Given the description of an element on the screen output the (x, y) to click on. 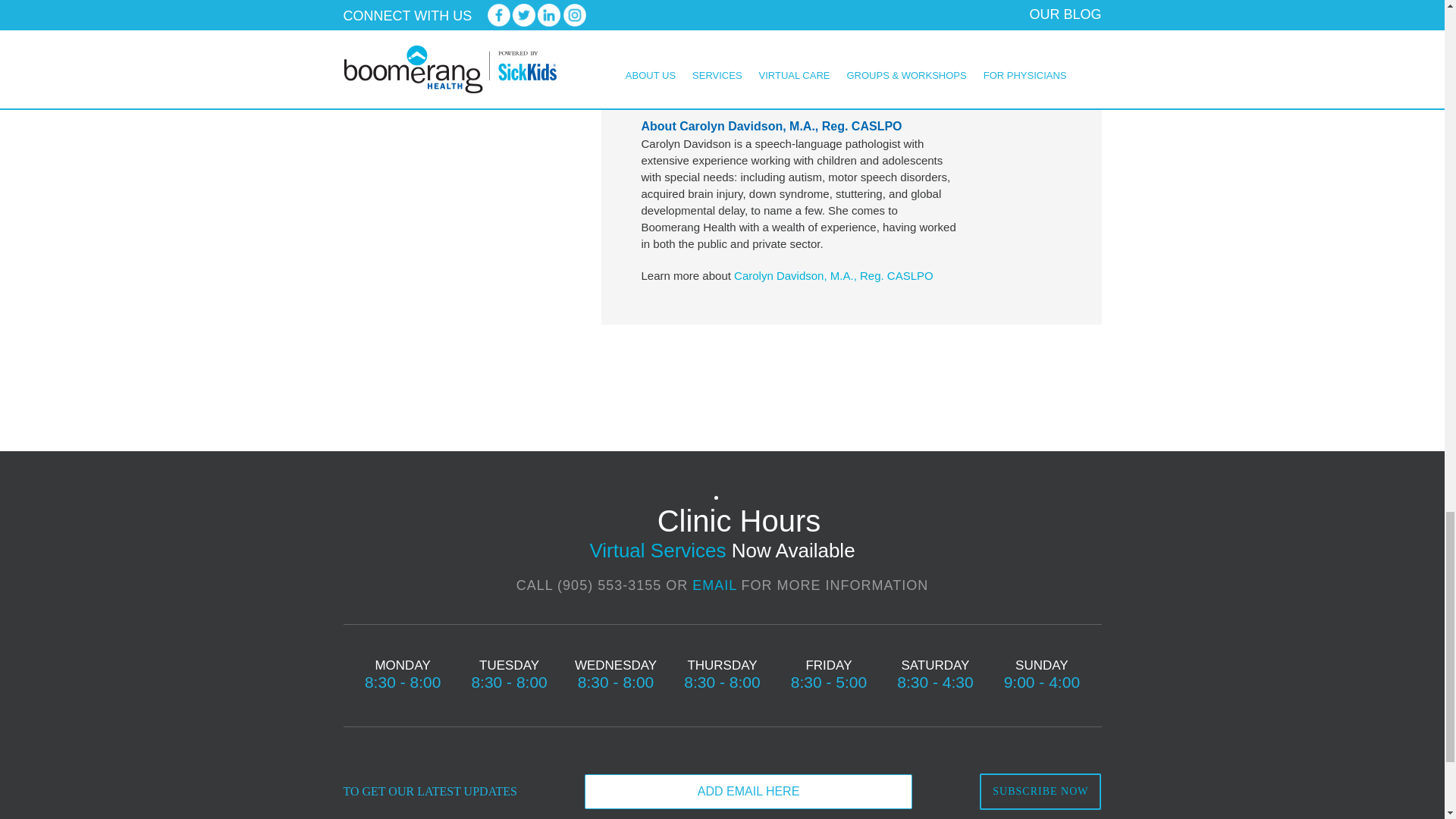
SUBSCRIBE NOW (1039, 791)
